Given the description of an element on the screen output the (x, y) to click on. 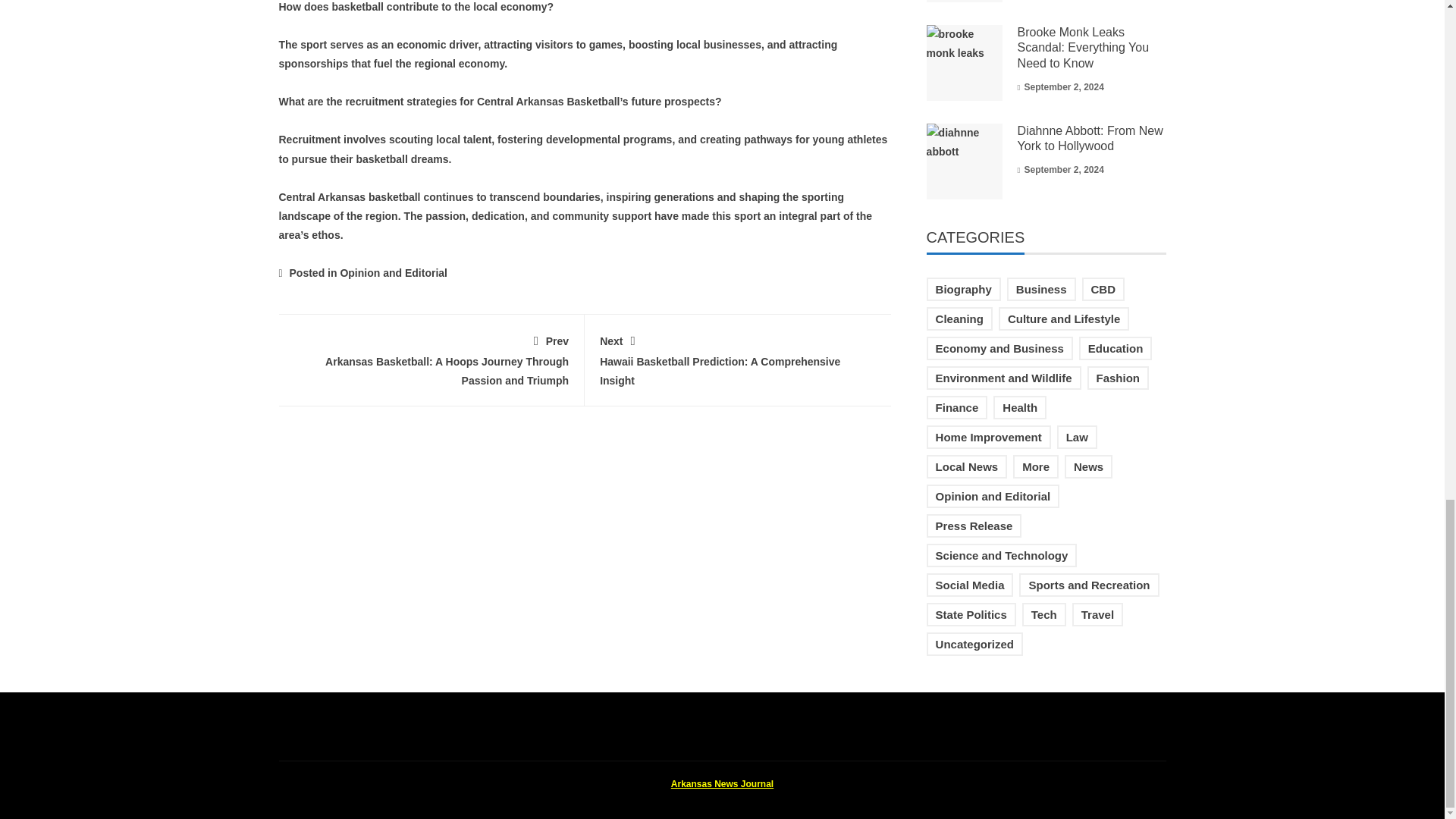
diahnne abbott (964, 161)
brooke monk leaks (737, 358)
Brooke Monk Leaks Scandal: Everything You Need to Know (964, 62)
poker cheat sheet (1082, 47)
Opinion and Editorial (964, 1)
